Given the description of an element on the screen output the (x, y) to click on. 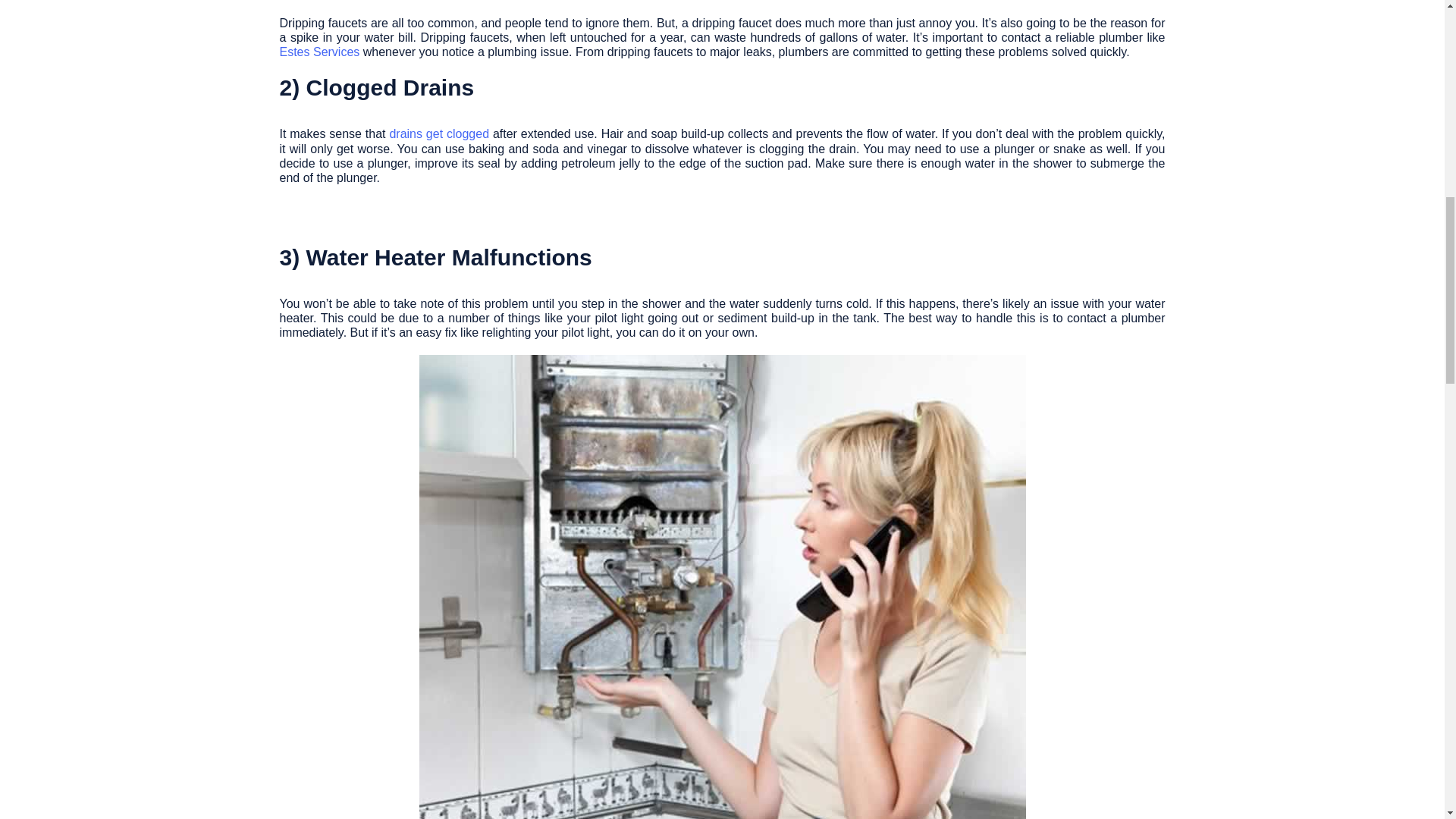
drains get clogged (438, 133)
Estes Services (319, 51)
